Given the description of an element on the screen output the (x, y) to click on. 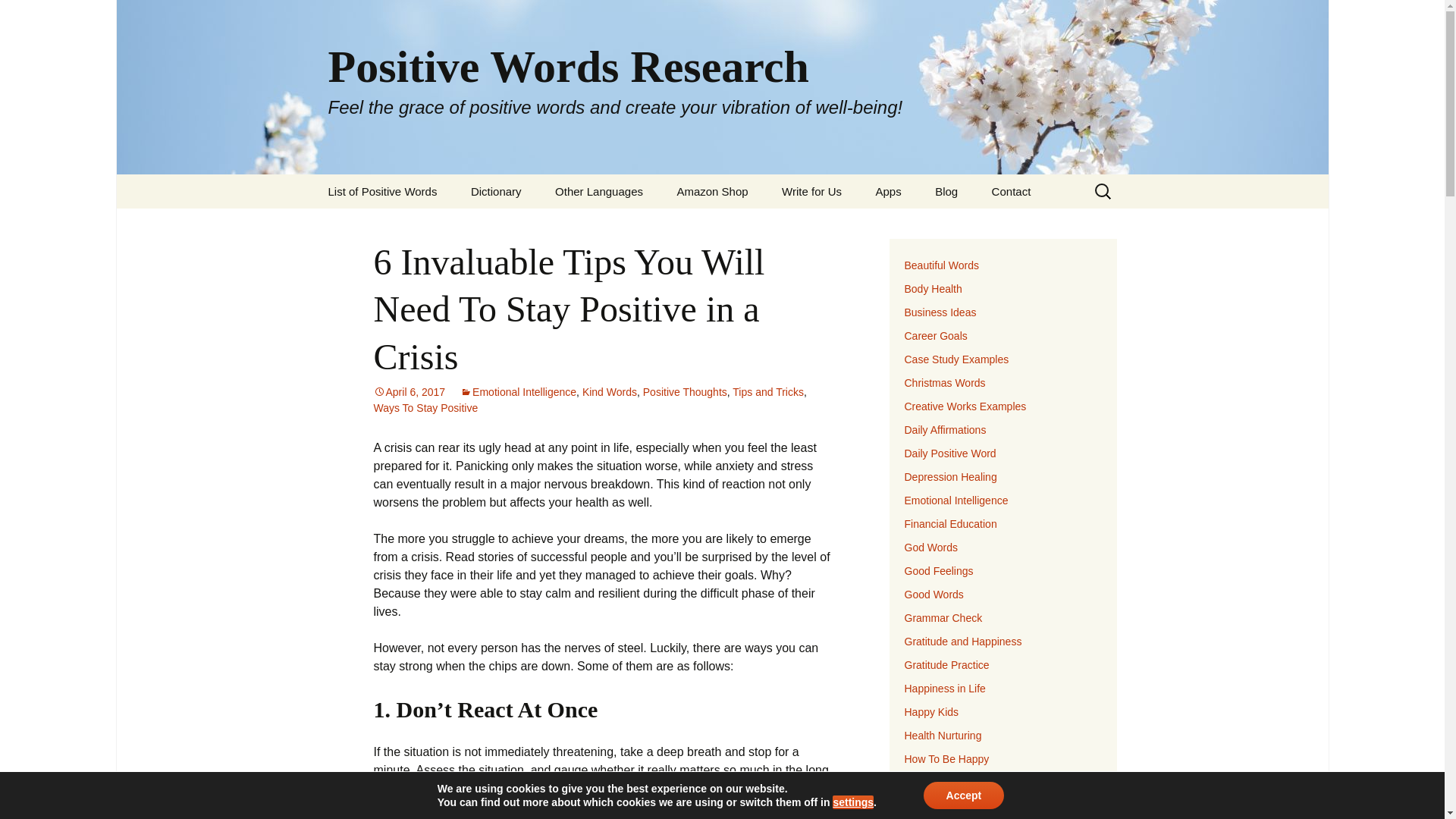
Business Ideas (939, 312)
Body Health (932, 288)
Dictionary (496, 191)
Beautiful Words (941, 265)
Amazon Shop (711, 191)
Search (18, 15)
Kind Words (609, 391)
Ways To Stay Positive (424, 408)
Contact (1011, 191)
